Given the description of an element on the screen output the (x, y) to click on. 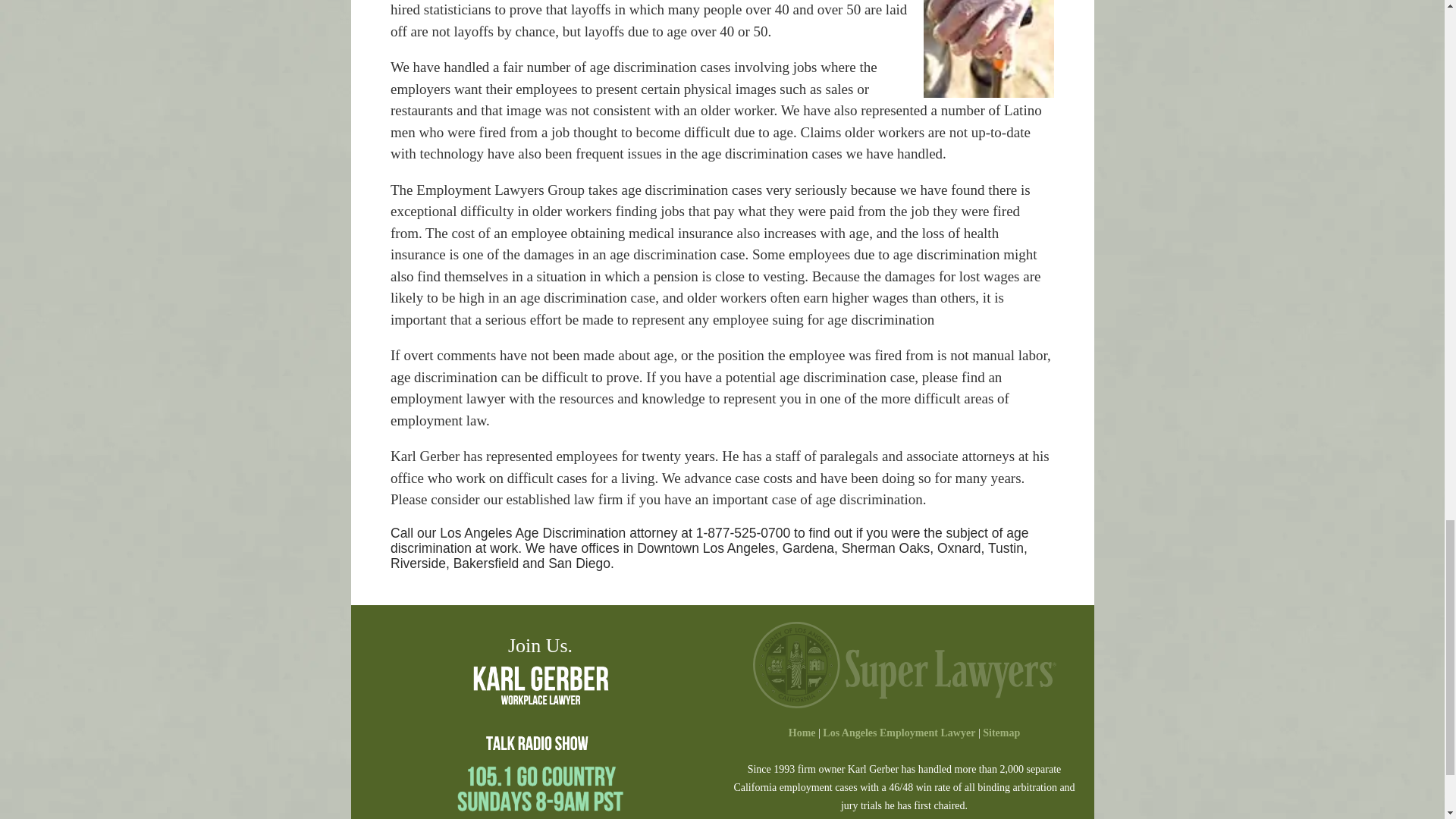
Los Angeles Age Discriminatilon Lawyer (988, 48)
Los Angeles Employee Lawyer (802, 732)
